Given the description of an element on the screen output the (x, y) to click on. 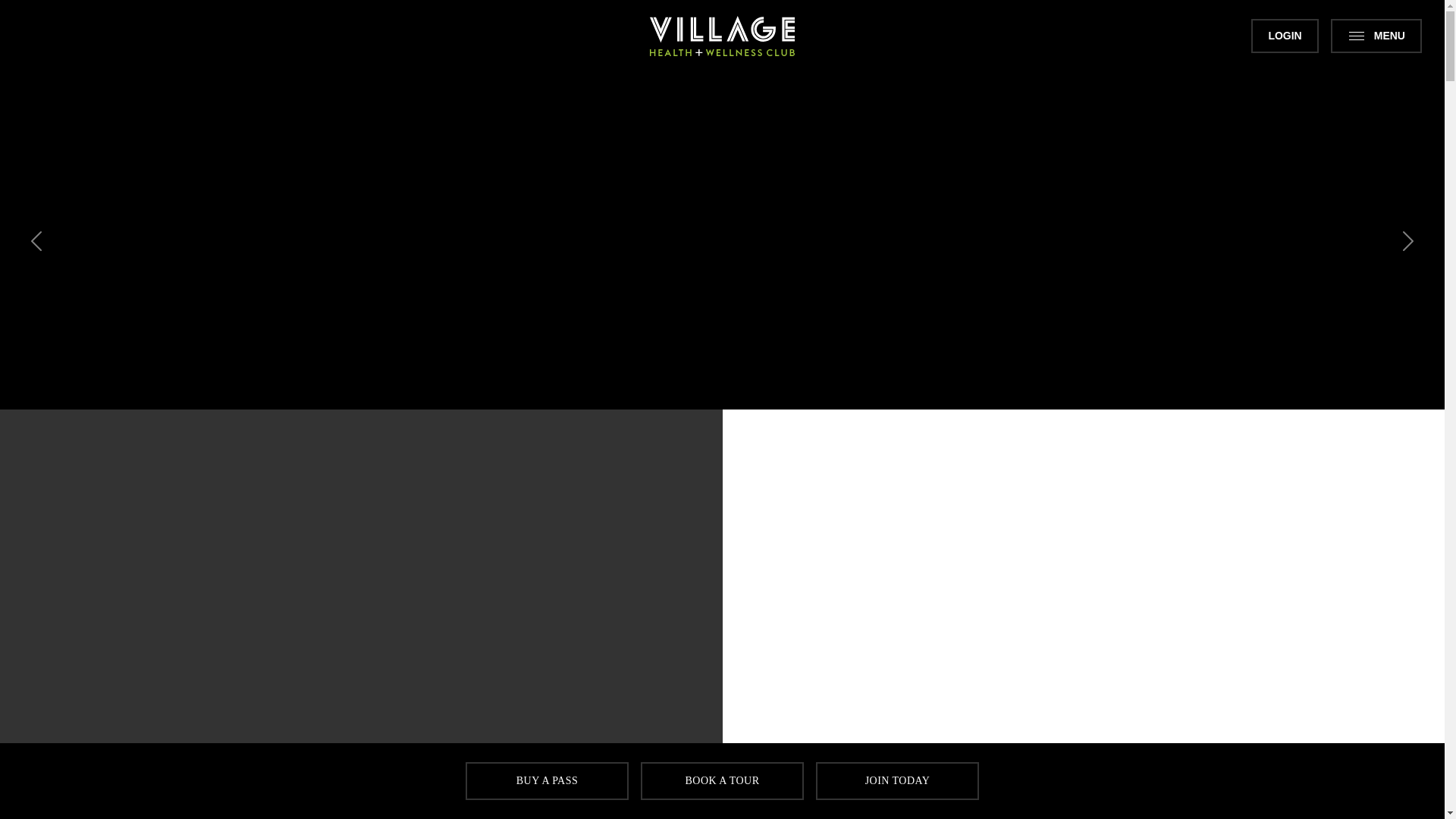
MENU (1376, 35)
